Given the description of an element on the screen output the (x, y) to click on. 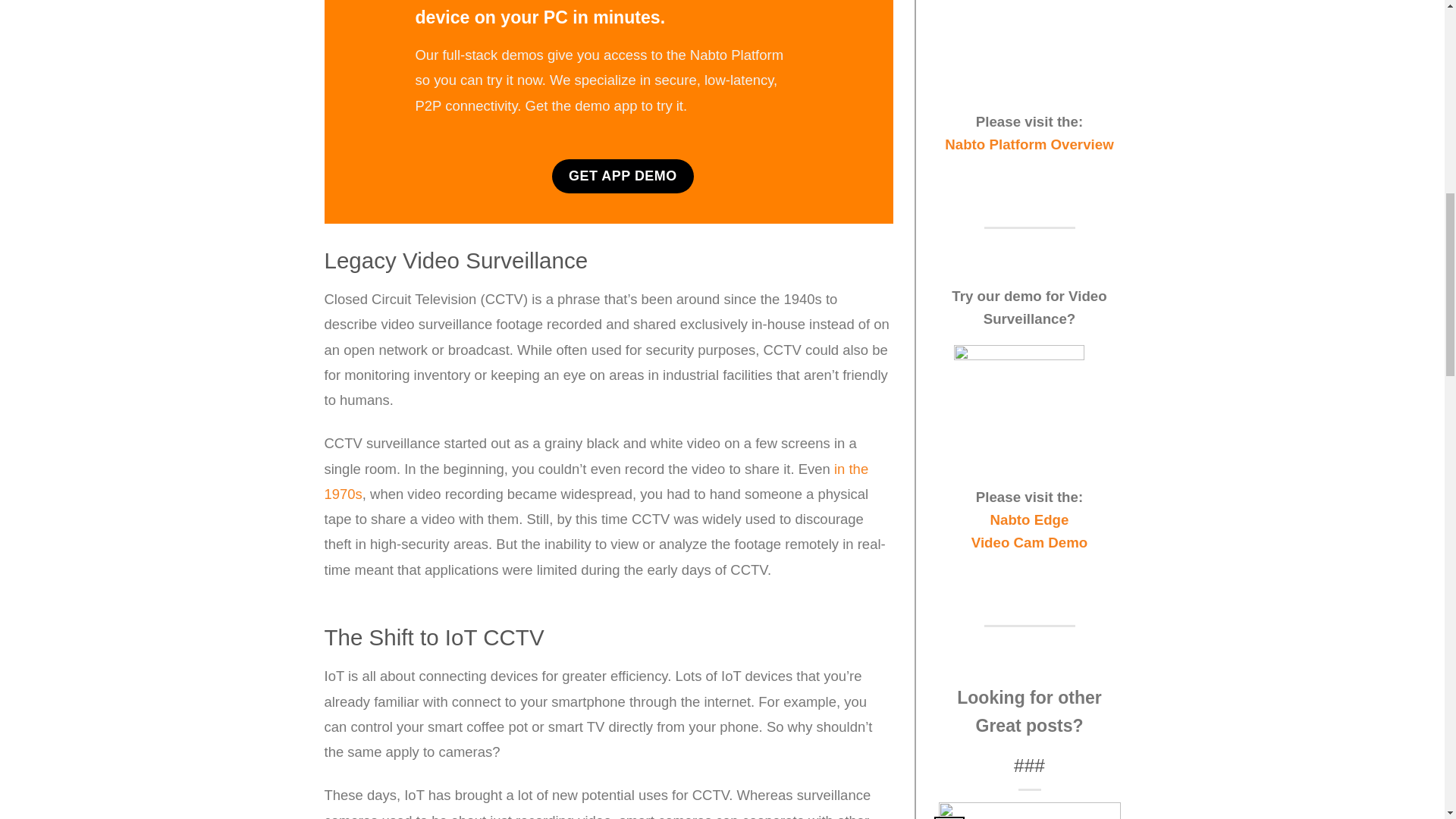
Nabto Platform Overview (1028, 144)
in the 1970s (596, 481)
GET APP DEMO (622, 175)
